Given the description of an element on the screen output the (x, y) to click on. 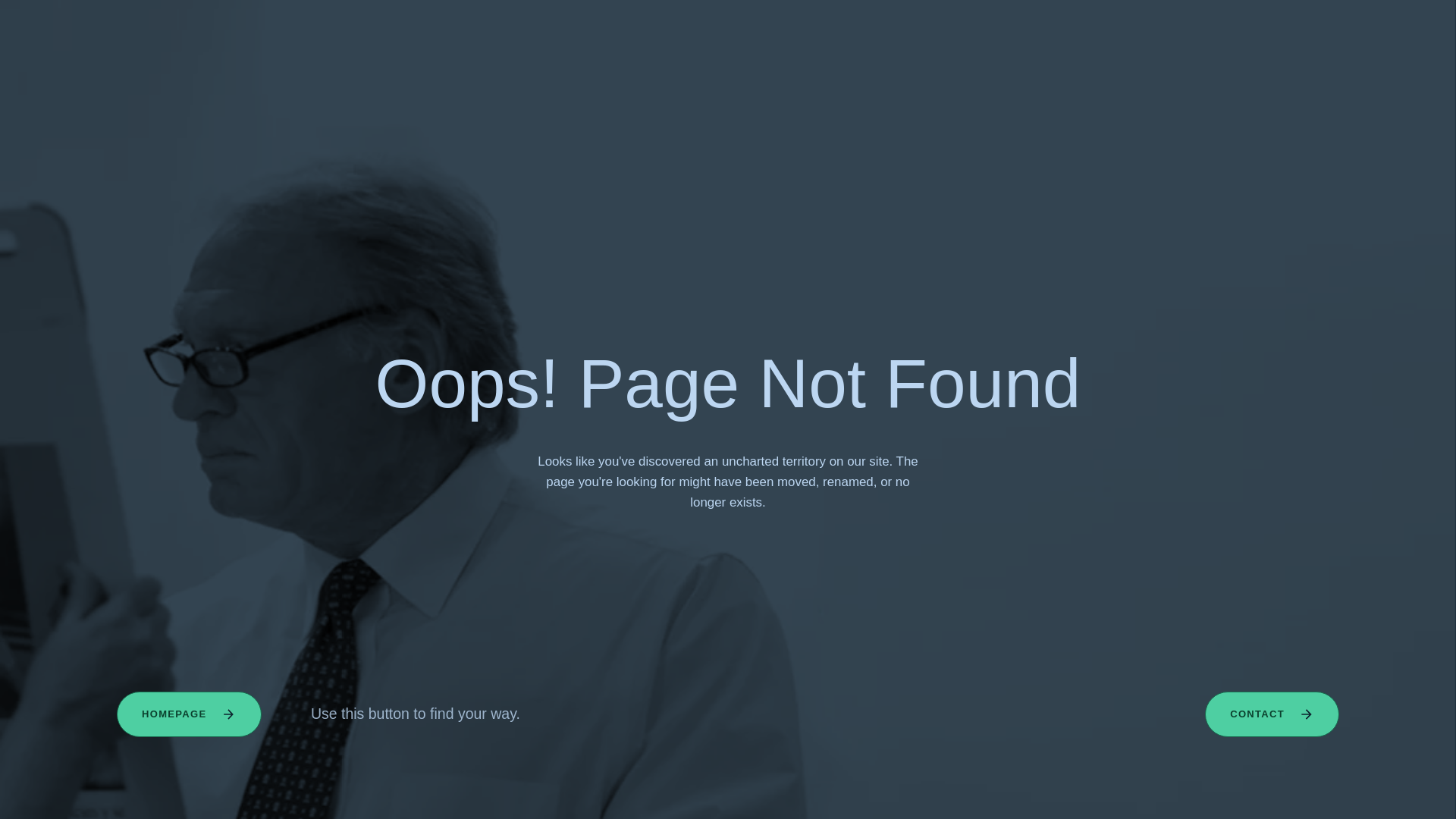
CONTACT (1272, 714)
HOMEPAGE (189, 714)
